Given the description of an element on the screen output the (x, y) to click on. 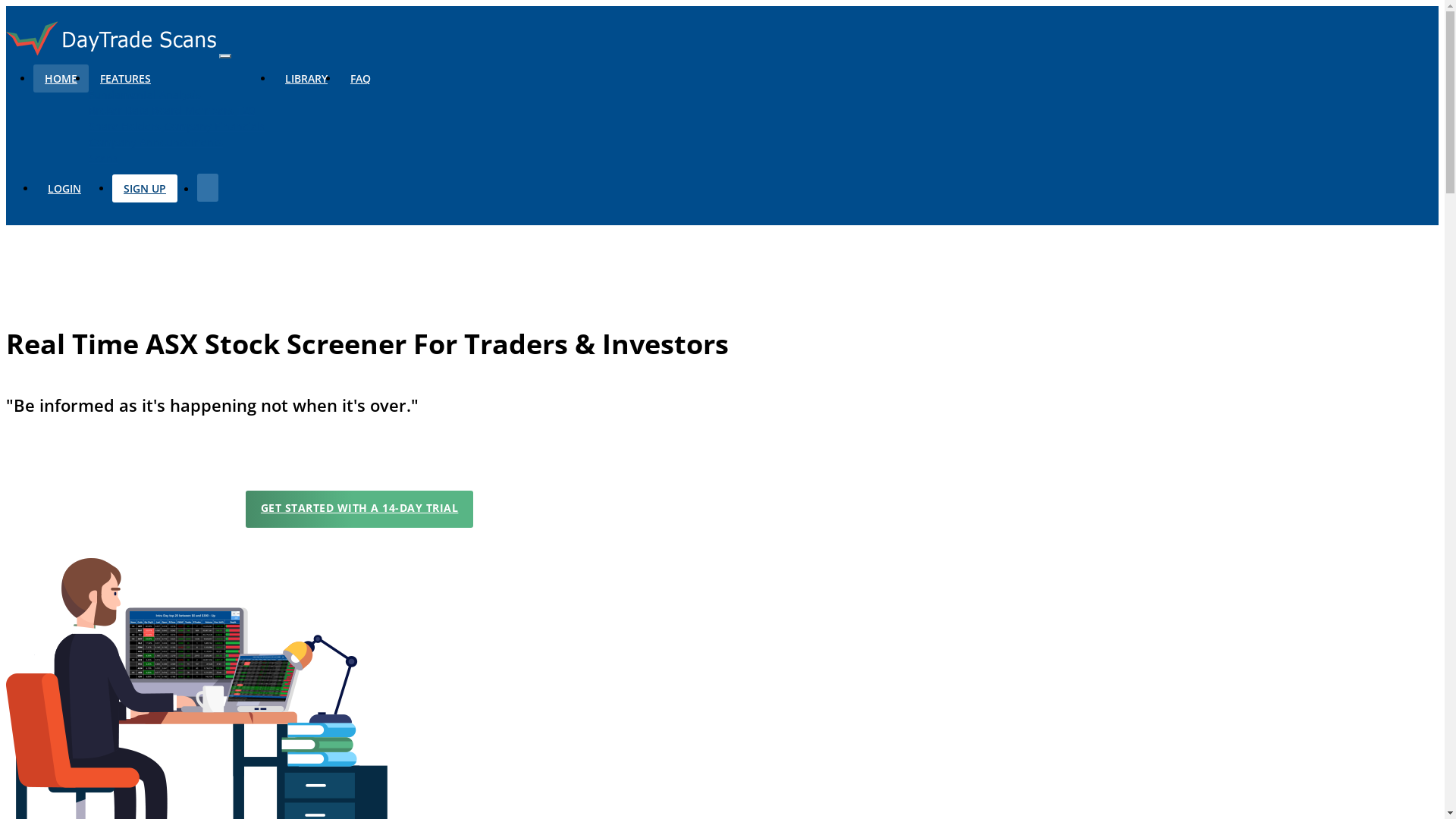
LIBRARY Element type: text (305, 78)
Scans Element type: text (103, 157)
Company Announcements Element type: text (155, 141)
Board Members Element type: text (192, 110)
HOME Element type: text (60, 78)
Broker Data Element type: text (118, 110)
GET STARTED WITH A 14-DAY TRIAL Element type: text (359, 508)
LOGIN Element type: text (64, 188)
Fundamental Analysis Element type: text (144, 94)
T20 Share Holders Element type: text (171, 118)
SUBSCRIPTION INFORMATION Element type: text (1052, 508)
FAQ Element type: text (360, 78)
Company Financials Element type: text (214, 126)
SIGN UP Element type: text (144, 188)
FEATURES Element type: text (125, 78)
